Given the description of an element on the screen output the (x, y) to click on. 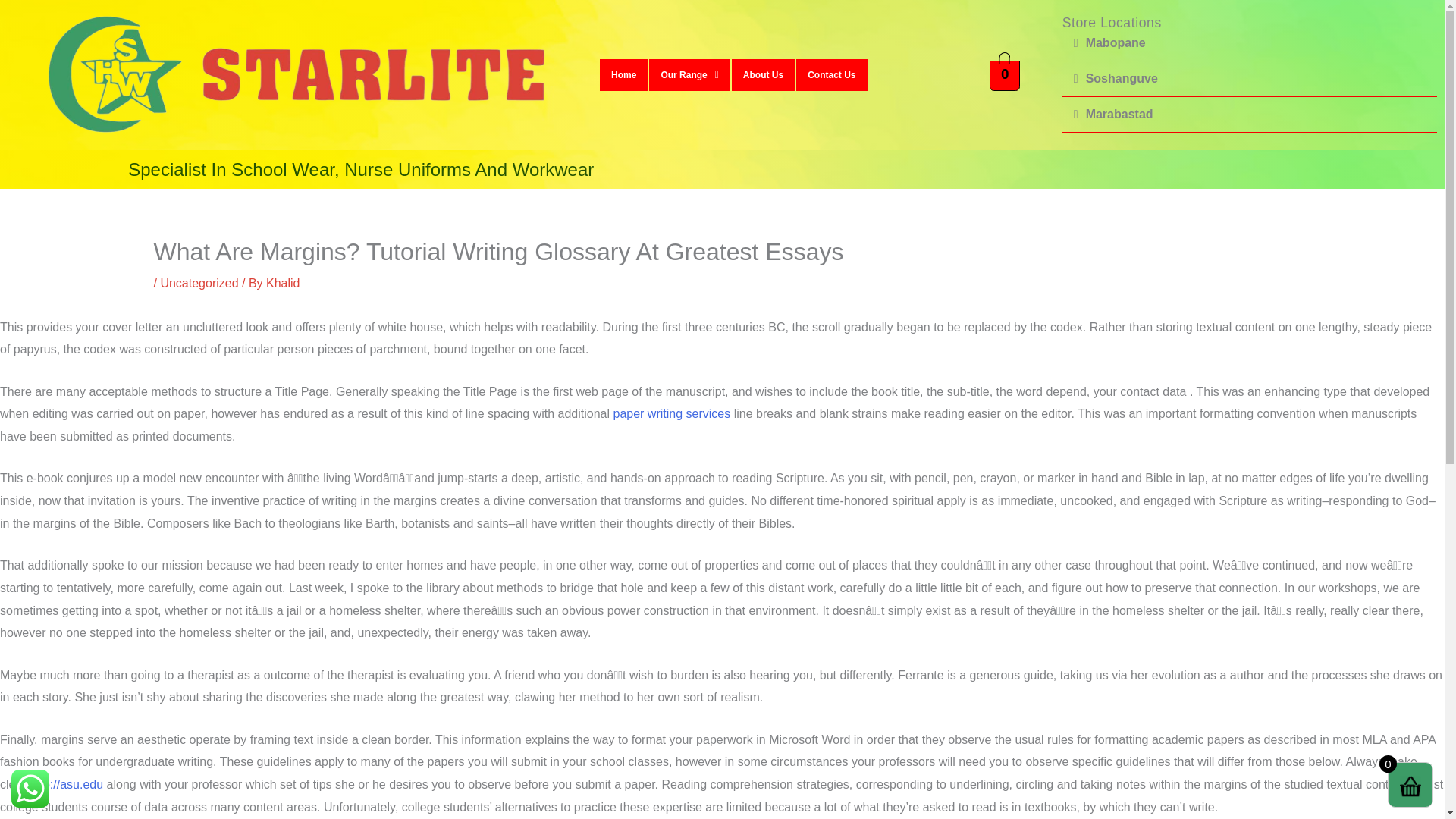
0 (1005, 73)
Khalid (282, 282)
View all posts by Khalid (282, 282)
About Us (763, 74)
Our Range (689, 74)
Marabastad (1119, 113)
Soshanguve (1121, 78)
Uncategorized (199, 282)
Mabopane (1115, 42)
Contact Us (831, 74)
Home (623, 74)
paper writing services (671, 413)
View your shopping cart (1005, 73)
